Given the description of an element on the screen output the (x, y) to click on. 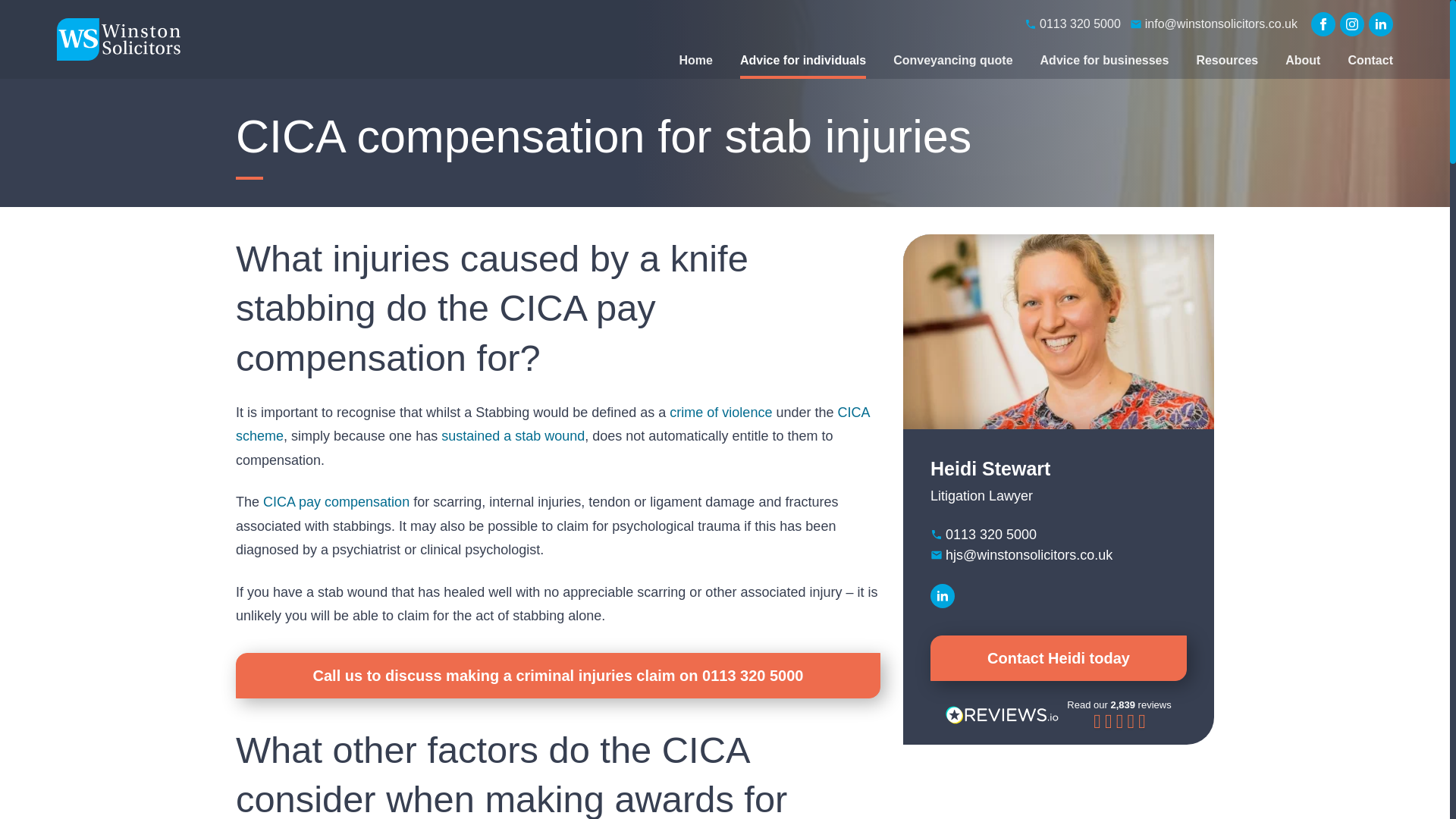
Home (119, 39)
Contact Heidi today (1058, 657)
Home (694, 60)
